Given the description of an element on the screen output the (x, y) to click on. 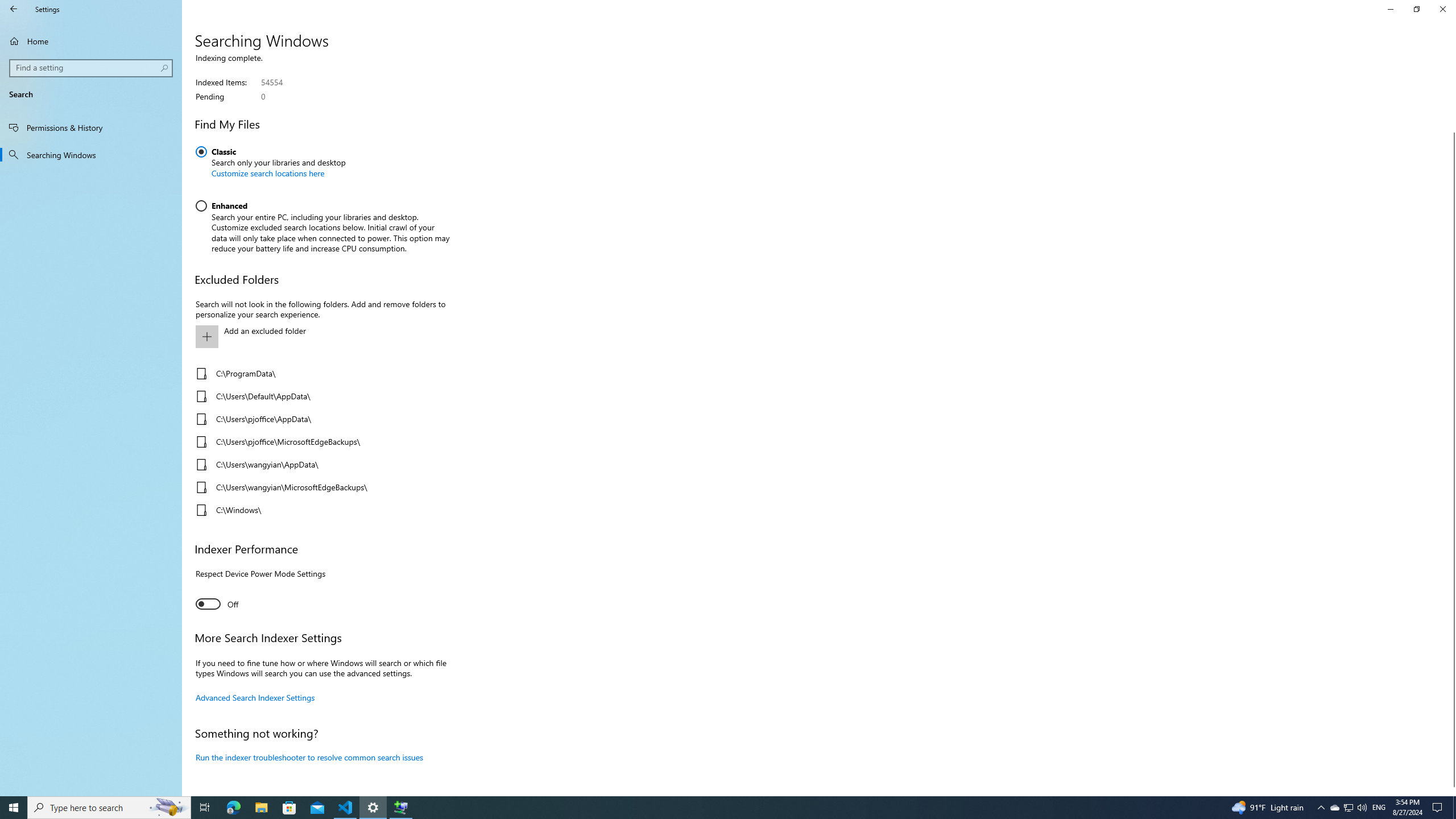
Vertical (1451, 425)
C:\Users\wangyian\AppData\ (319, 463)
C:\ProgramData\ (319, 372)
Vertical Small Decrease (1451, 58)
C:\Users\pjoffice\MicrosoftEdgeBackups\ (319, 441)
Searching Windows (91, 154)
Vertical Large Decrease (1451, 97)
Search box, Find a setting (91, 67)
